Given the description of an element on the screen output the (x, y) to click on. 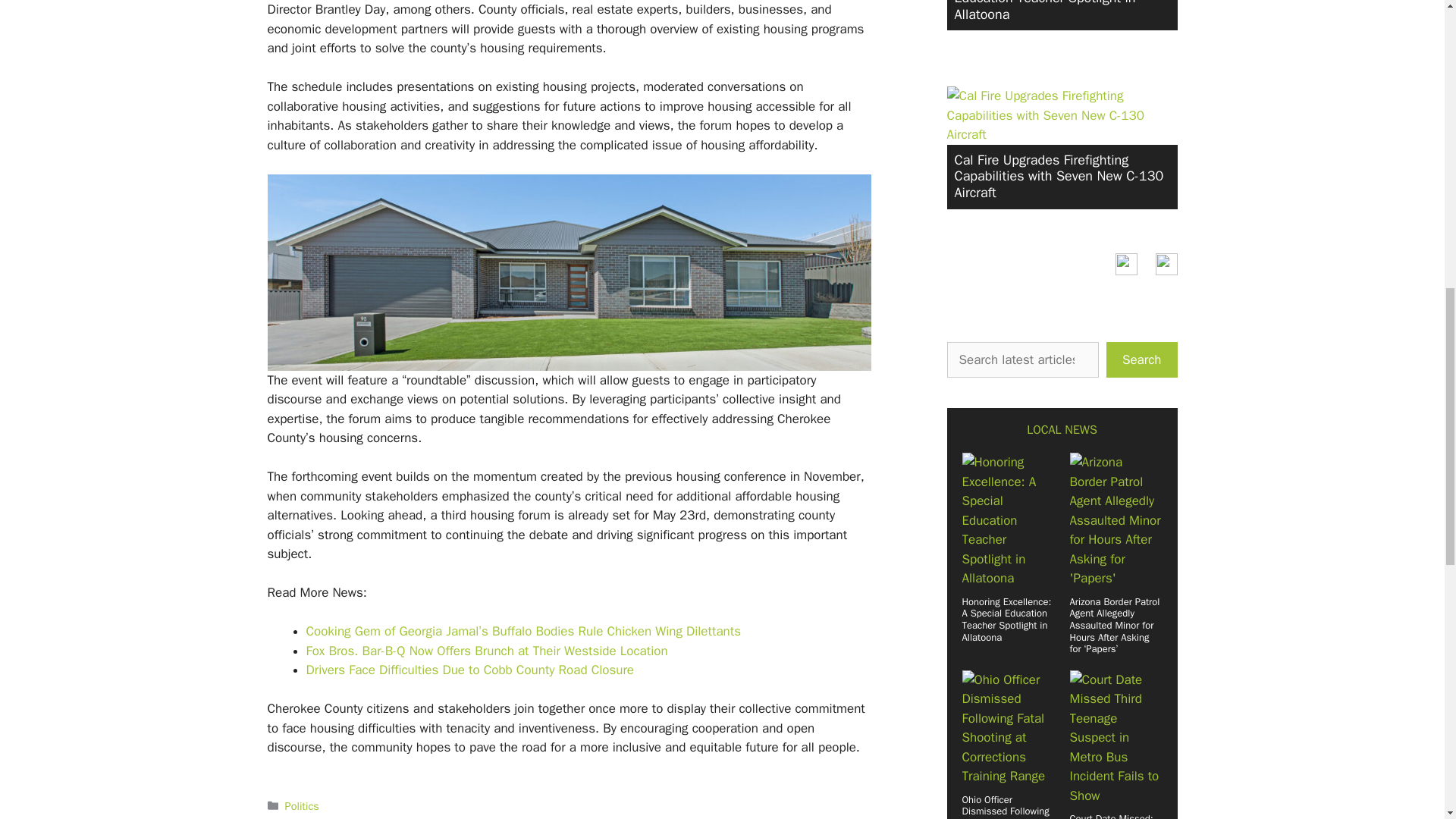
Finance (979, 722)
Events (976, 699)
Drivers Face Difficulties Due to Cobb County Road Closure (469, 669)
Crime News (992, 652)
Scroll back to top (1406, 720)
